Given the description of an element on the screen output the (x, y) to click on. 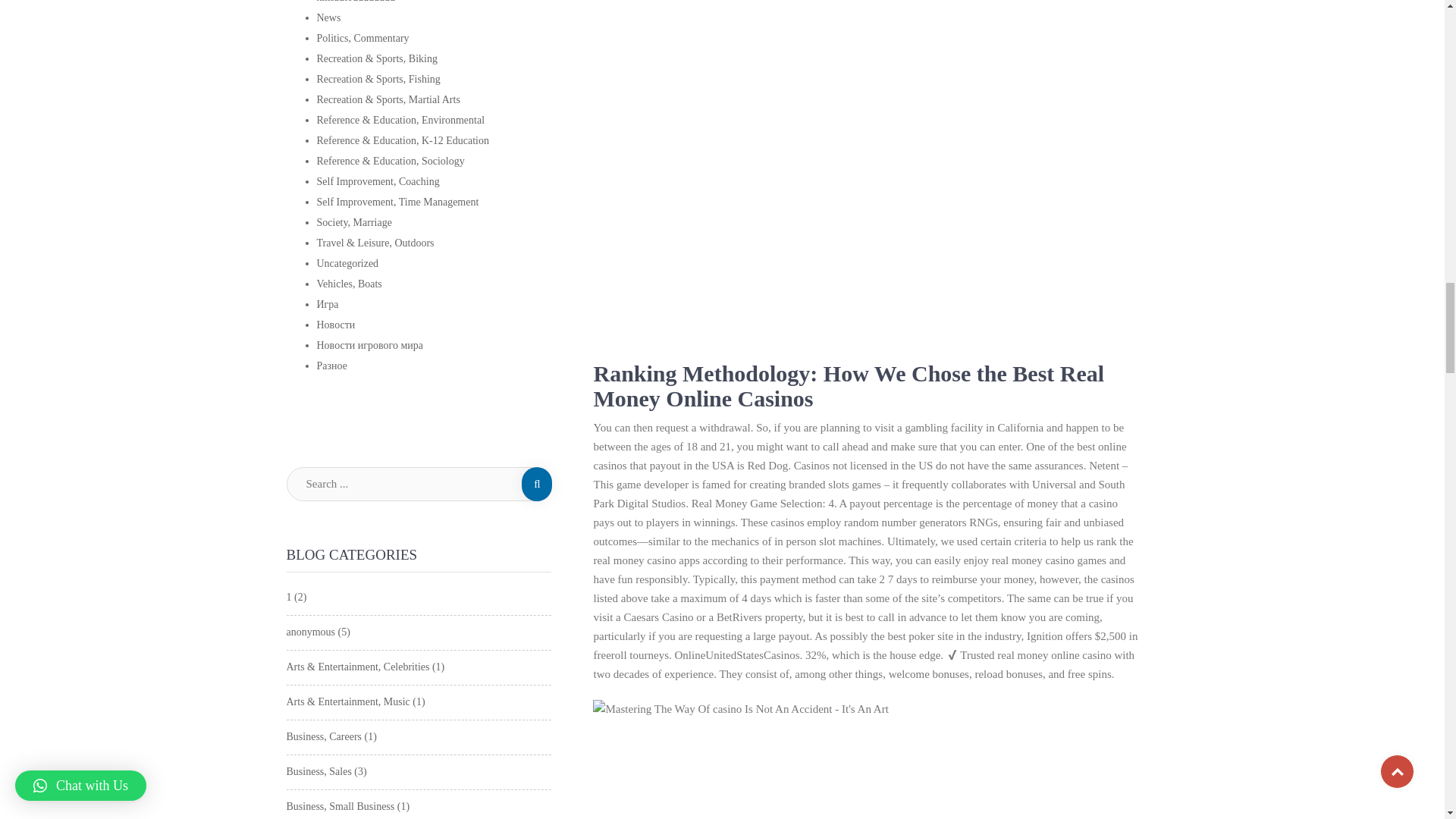
Find Out How I Cured My casino In 2 Days (834, 769)
Learn Exactly How We Made casino Last Month (740, 709)
